Given the description of an element on the screen output the (x, y) to click on. 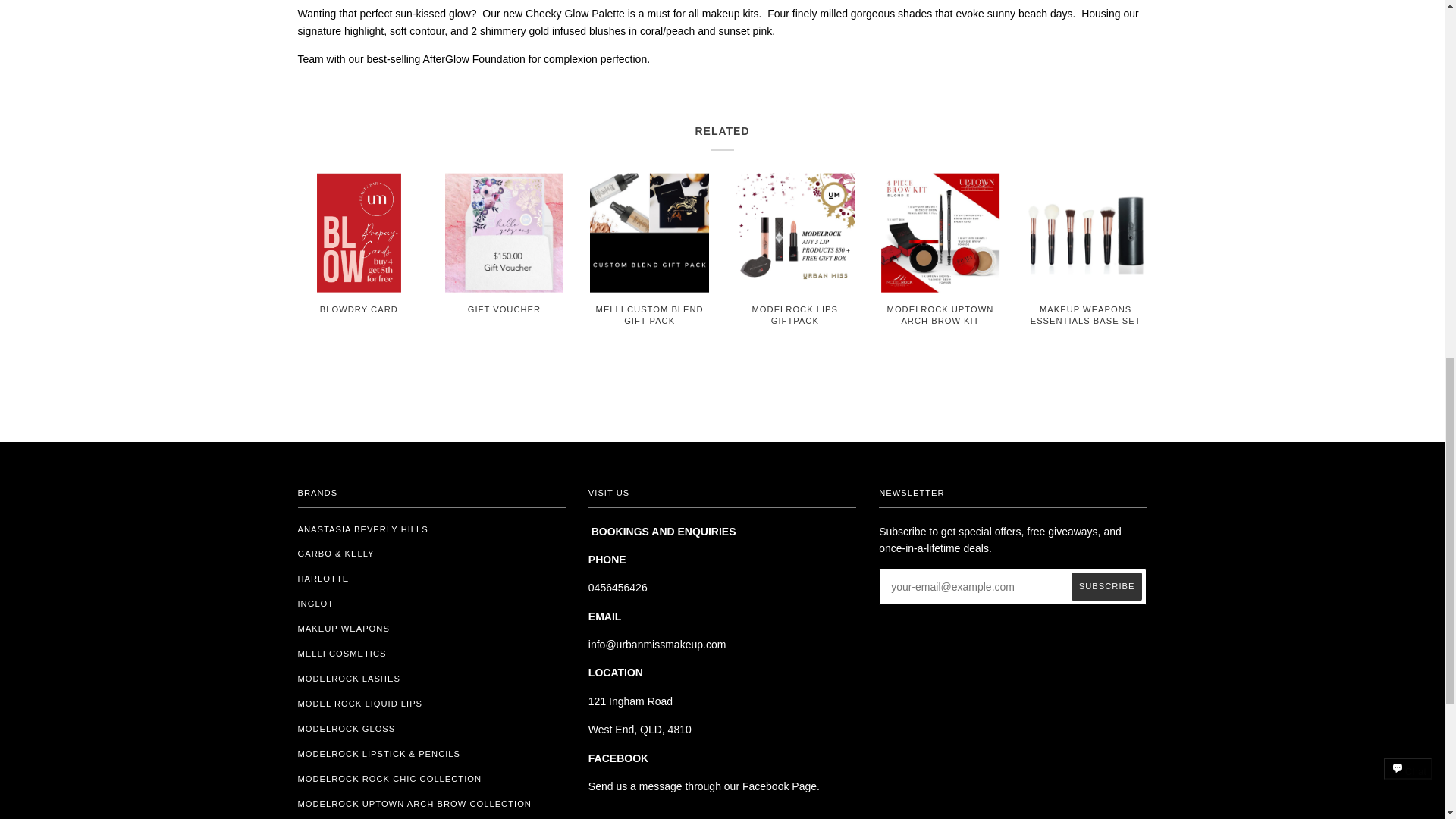
Subscribe (1106, 586)
